Given the description of an element on the screen output the (x, y) to click on. 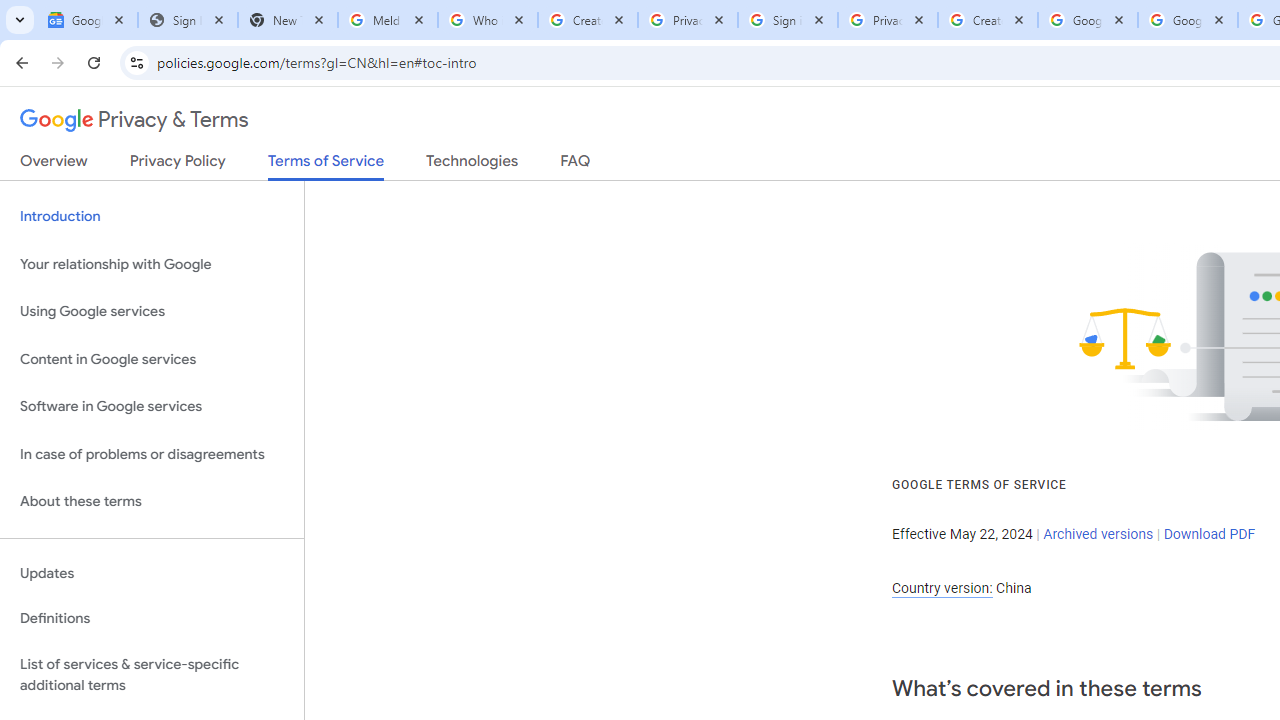
Who is my administrator? - Google Account Help (487, 20)
Using Google services (152, 312)
